Given the description of an element on the screen output the (x, y) to click on. 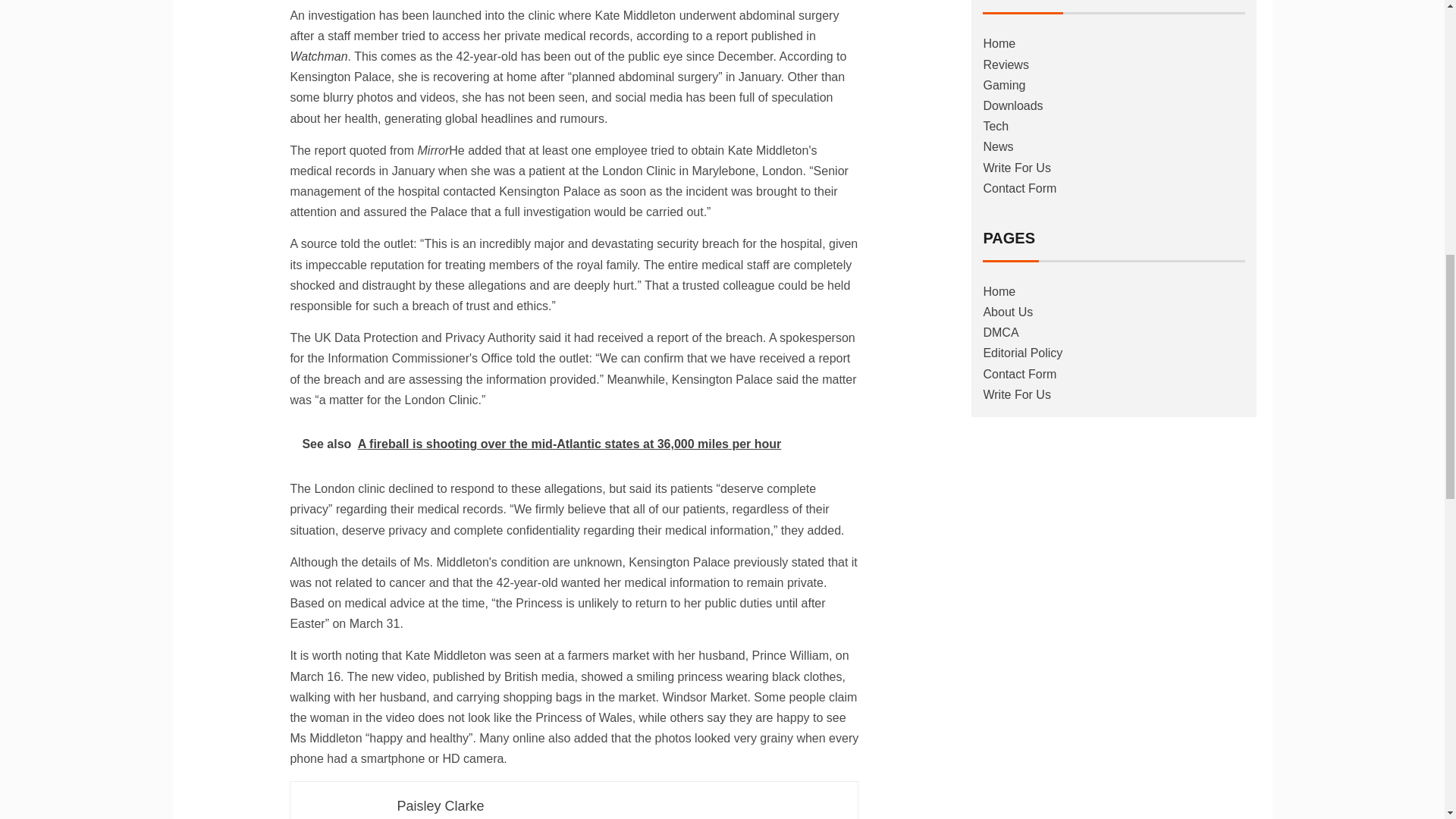
Paisley Clarke (439, 806)
Watchman (318, 56)
